Given the description of an element on the screen output the (x, y) to click on. 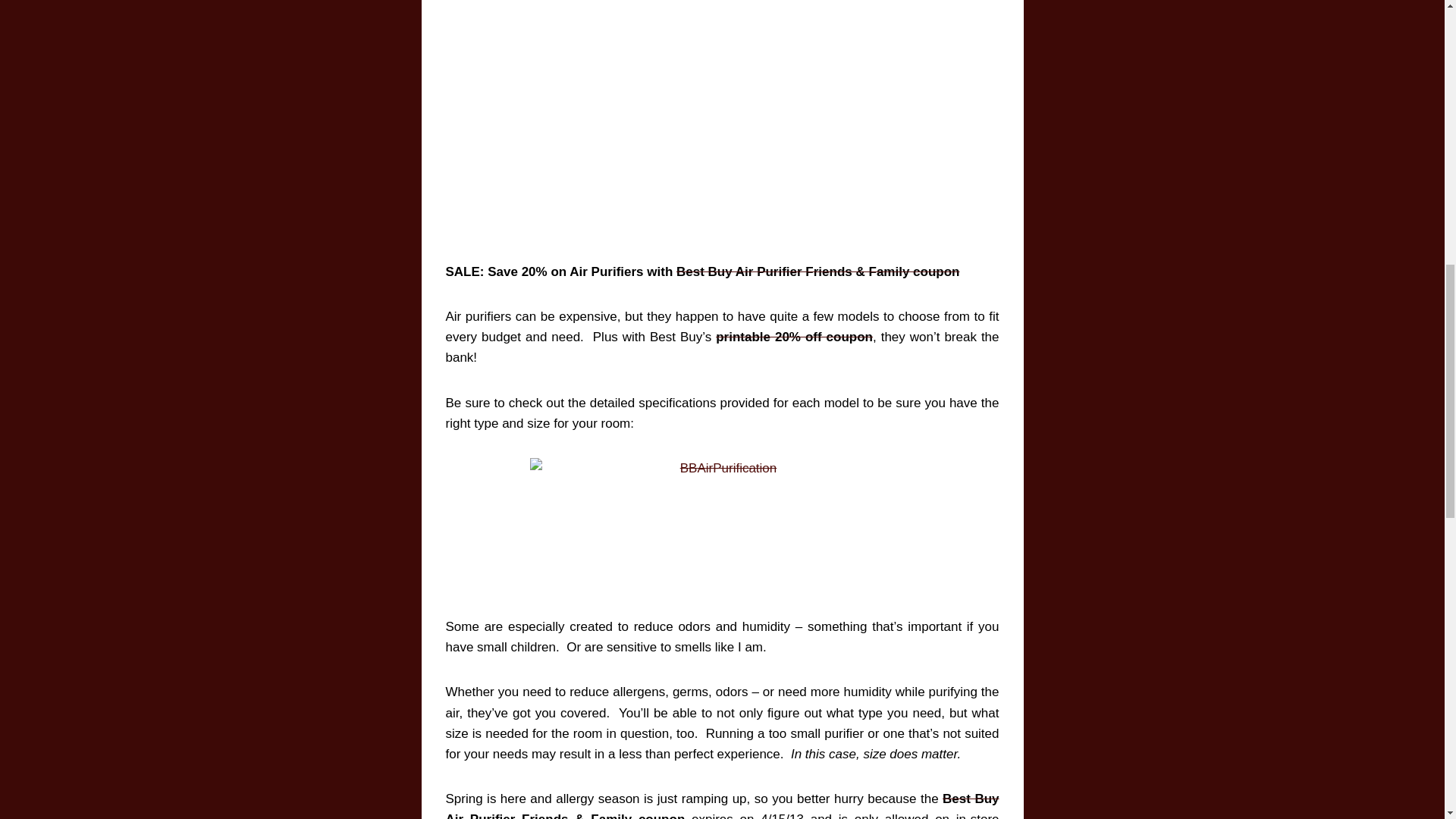
Best Buy Air Purification Coupon (794, 336)
Best Buy Air Purification Coupon (818, 271)
Best Buy Air Purification Coupon (721, 805)
